Given the description of an element on the screen output the (x, y) to click on. 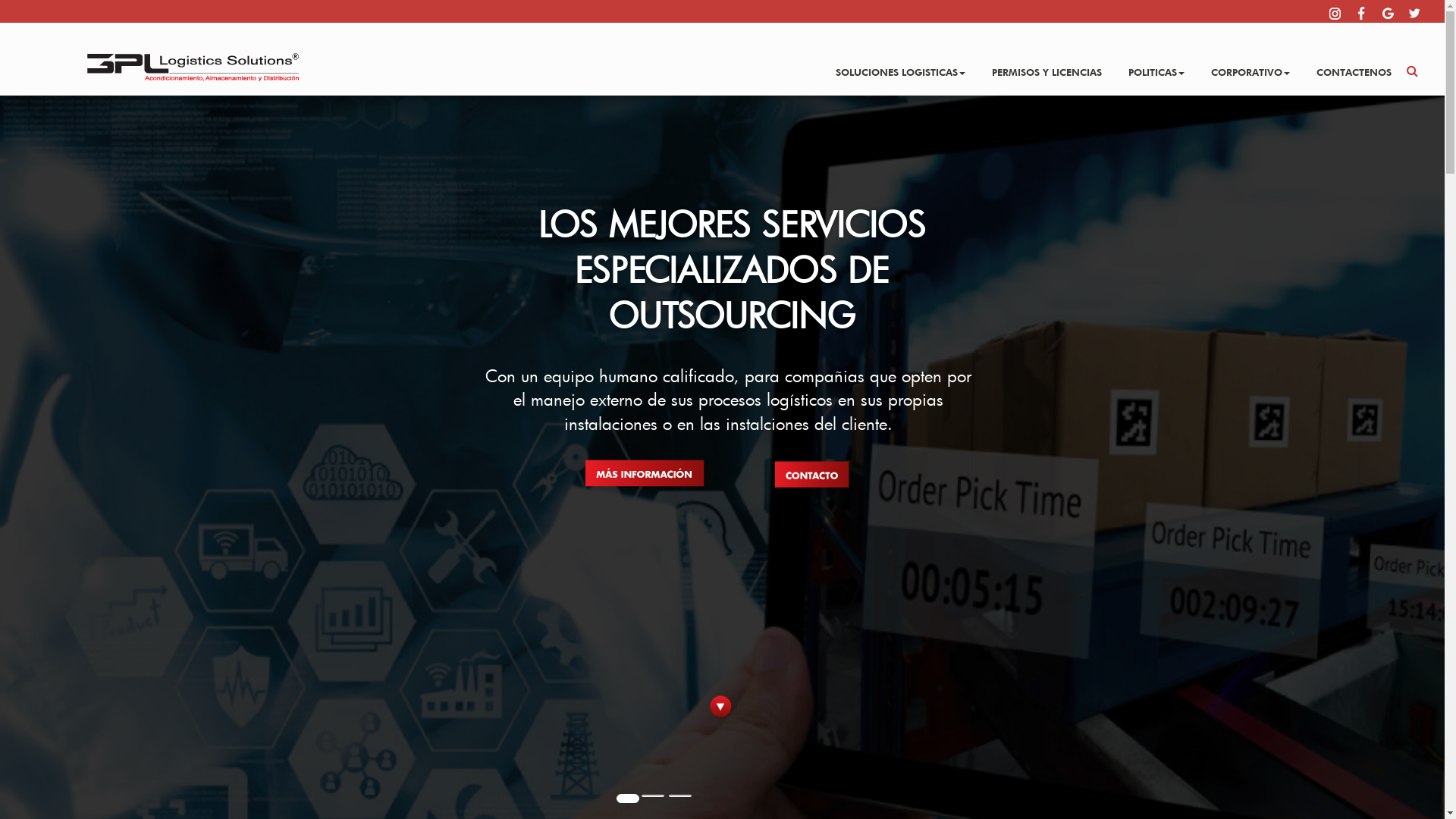
CORPORATIVO Element type: text (1250, 68)
CONTACTENOS Element type: text (1353, 68)
SOLUCIONES LOGISTICAS Element type: text (900, 68)
POLITICAS Element type: text (1156, 68)
PERMISOS Y LICENCIAS Element type: text (1046, 68)
